Given the description of an element on the screen output the (x, y) to click on. 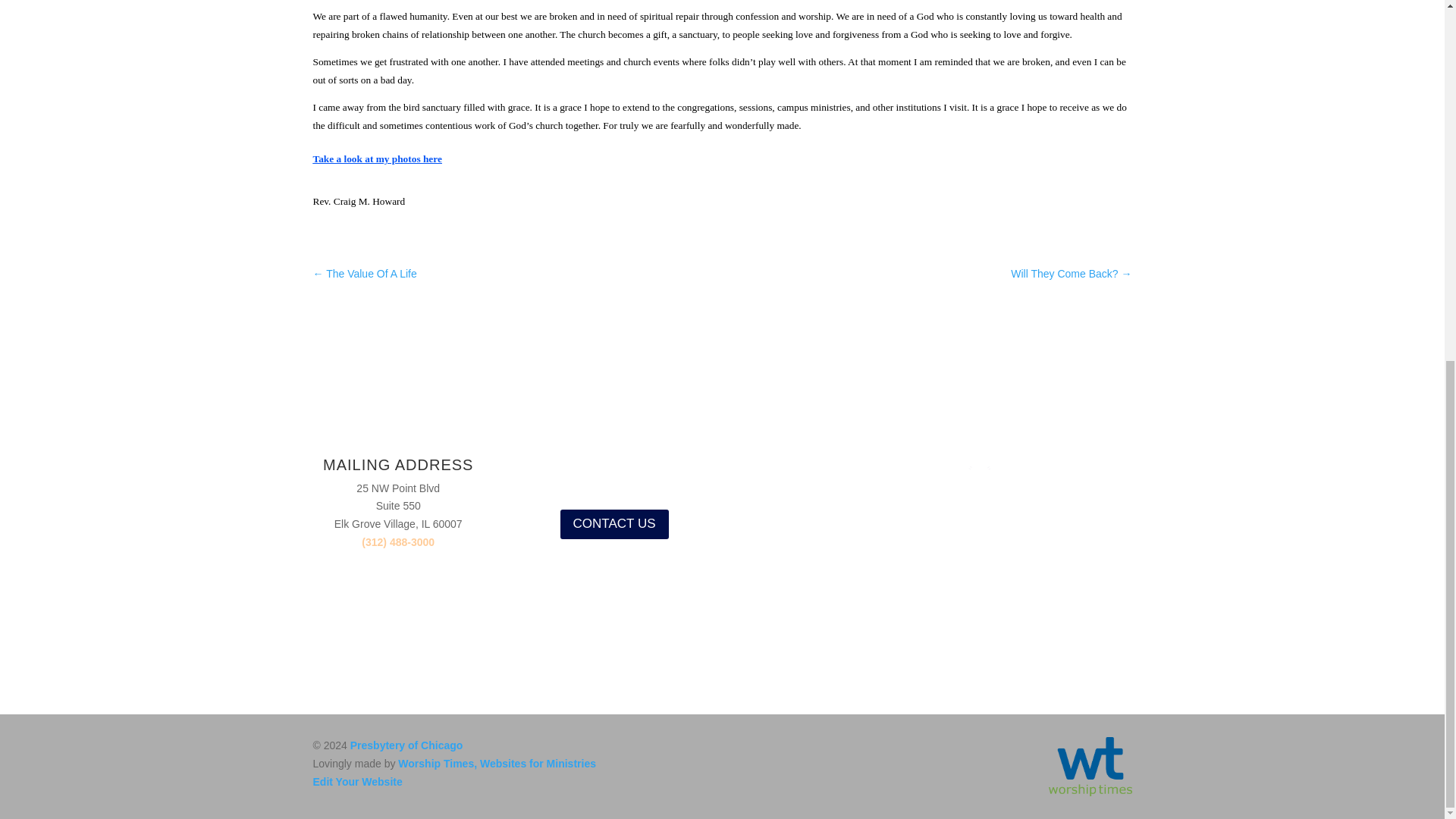
Presbytery of Chicago (406, 745)
Follow on LinkedIn (659, 469)
Follow on Youtube (629, 469)
logo-white (1045, 487)
Follow on Instagram (598, 469)
pcusa-logo-white-300x300 (829, 542)
Follow on Facebook (568, 469)
Worship Times Website (1089, 792)
